Given the description of an element on the screen output the (x, y) to click on. 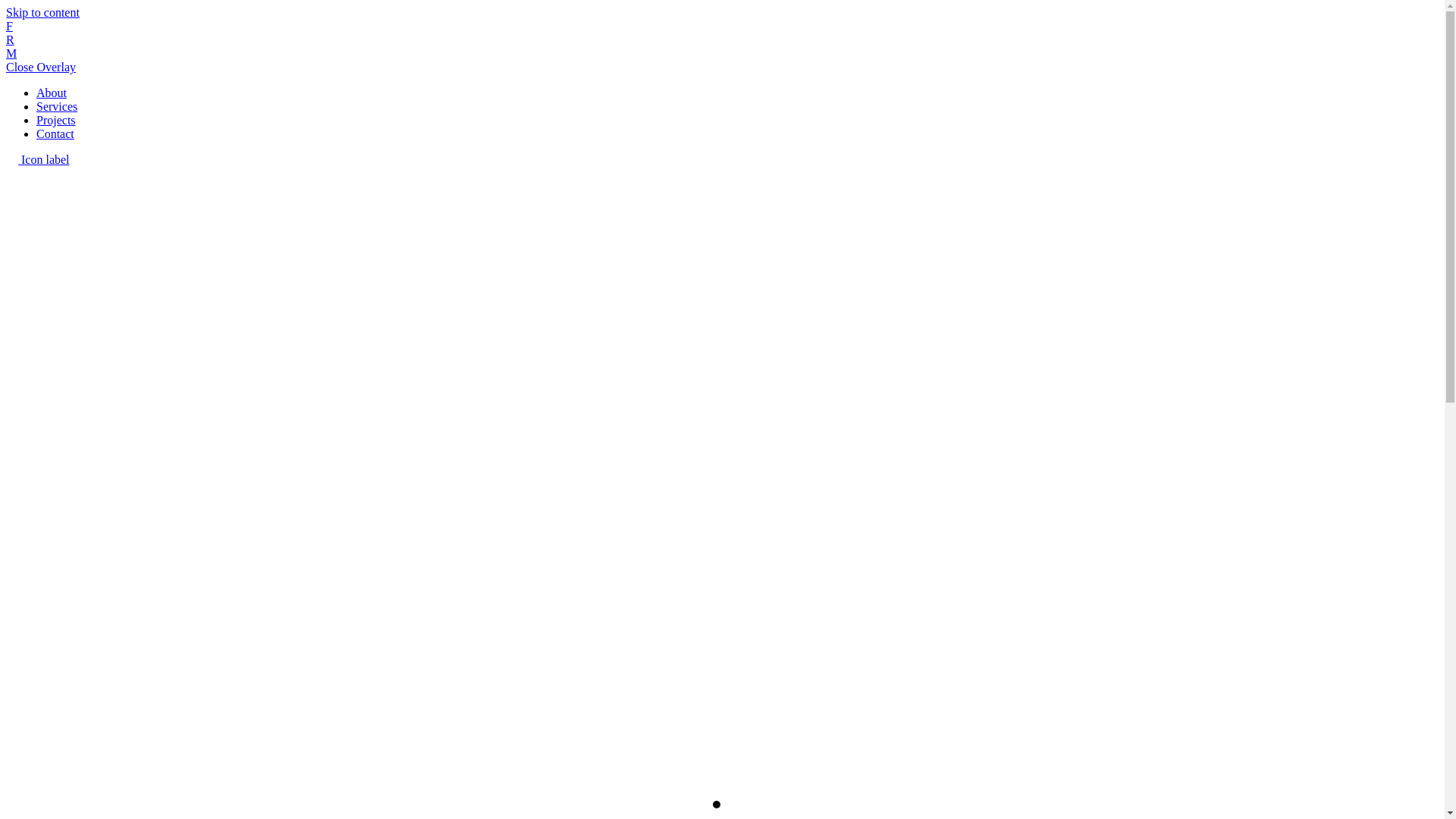
Icon label Element type: text (37, 159)
Skip to content Element type: text (42, 12)
F
R
M Element type: text (722, 39)
Close Overlay Element type: text (40, 66)
Services Element type: text (56, 106)
Contact Element type: text (55, 133)
About Element type: text (51, 92)
Projects Element type: text (55, 119)
